Given the description of an element on the screen output the (x, y) to click on. 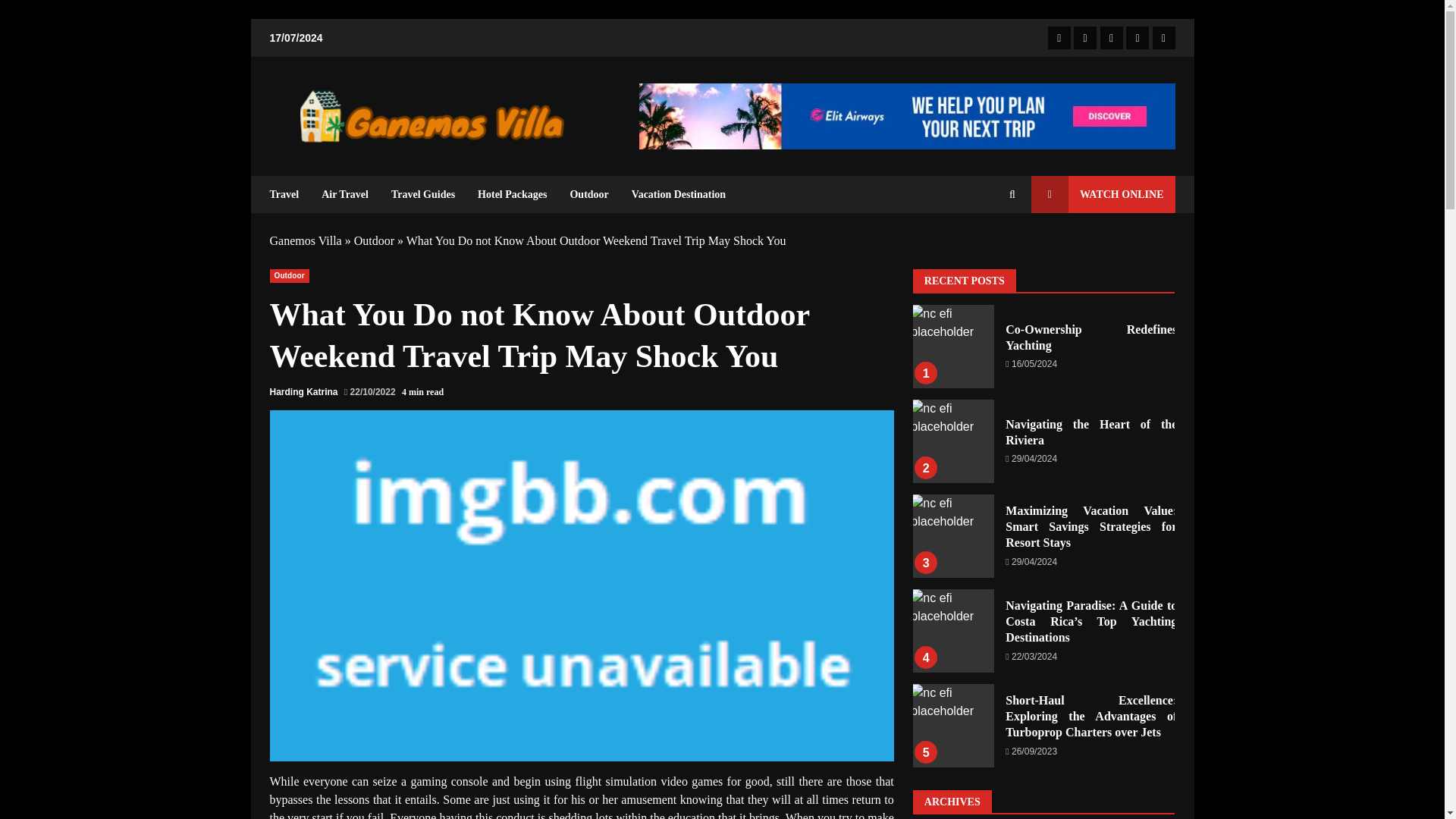
Youtube (1136, 37)
Search (1011, 194)
Air Travel (345, 194)
Co-Ownership Redefines Yachting (952, 346)
Instagram (1163, 37)
Outdoor (288, 275)
Outdoor (373, 240)
Hotel Packages (511, 194)
Outdoor (588, 194)
Facebook (1059, 37)
Travel (290, 194)
